Given the description of an element on the screen output the (x, y) to click on. 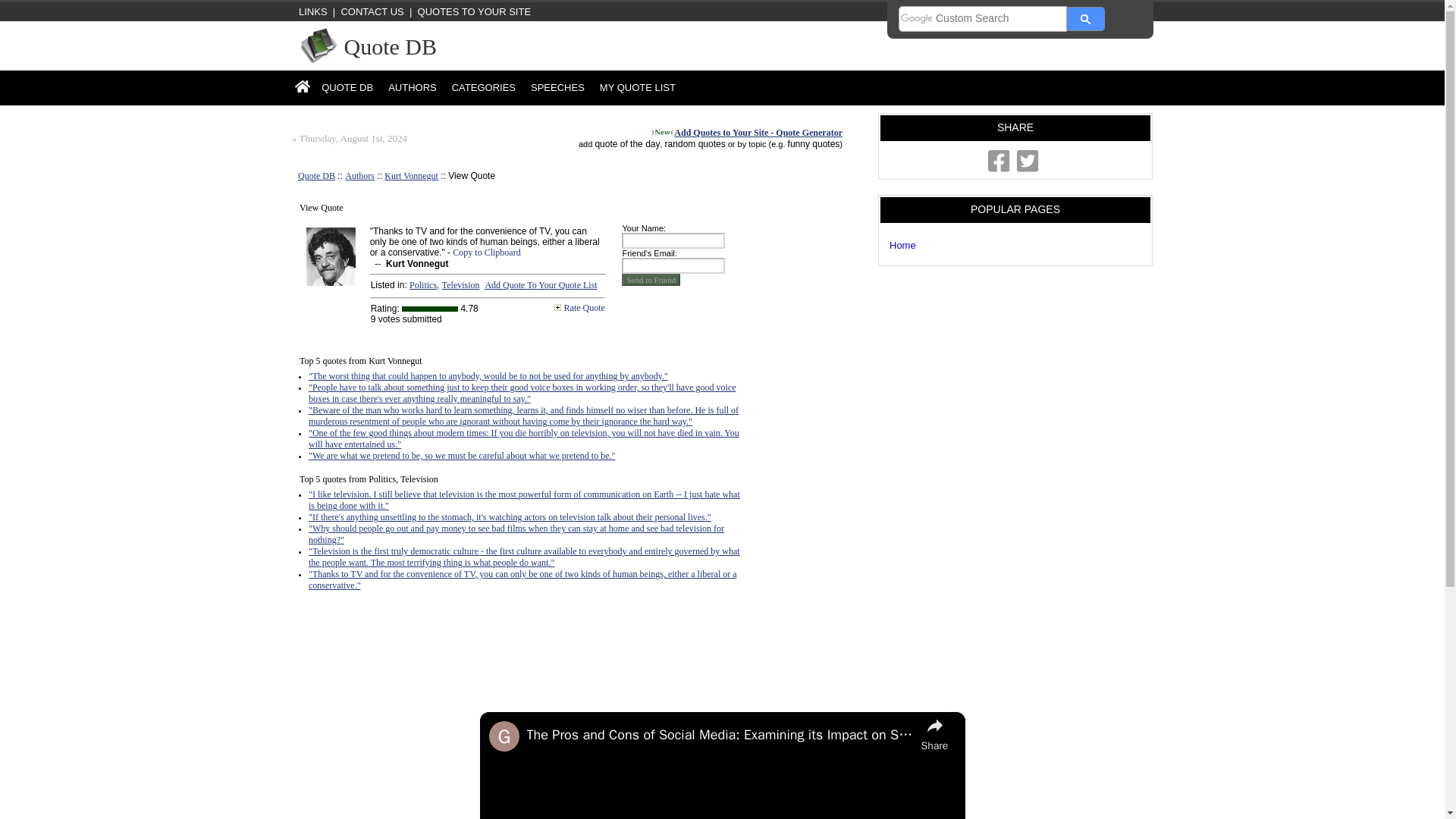
MY QUOTE LIST (637, 87)
AUTHORS (412, 87)
random quotes (695, 143)
quote of the day (626, 143)
Quote DB (316, 175)
Add Quote To Your Quote List (540, 285)
LINKS (309, 11)
Television (461, 285)
QUOTES TO YOUR SITE (474, 11)
